Given the description of an element on the screen output the (x, y) to click on. 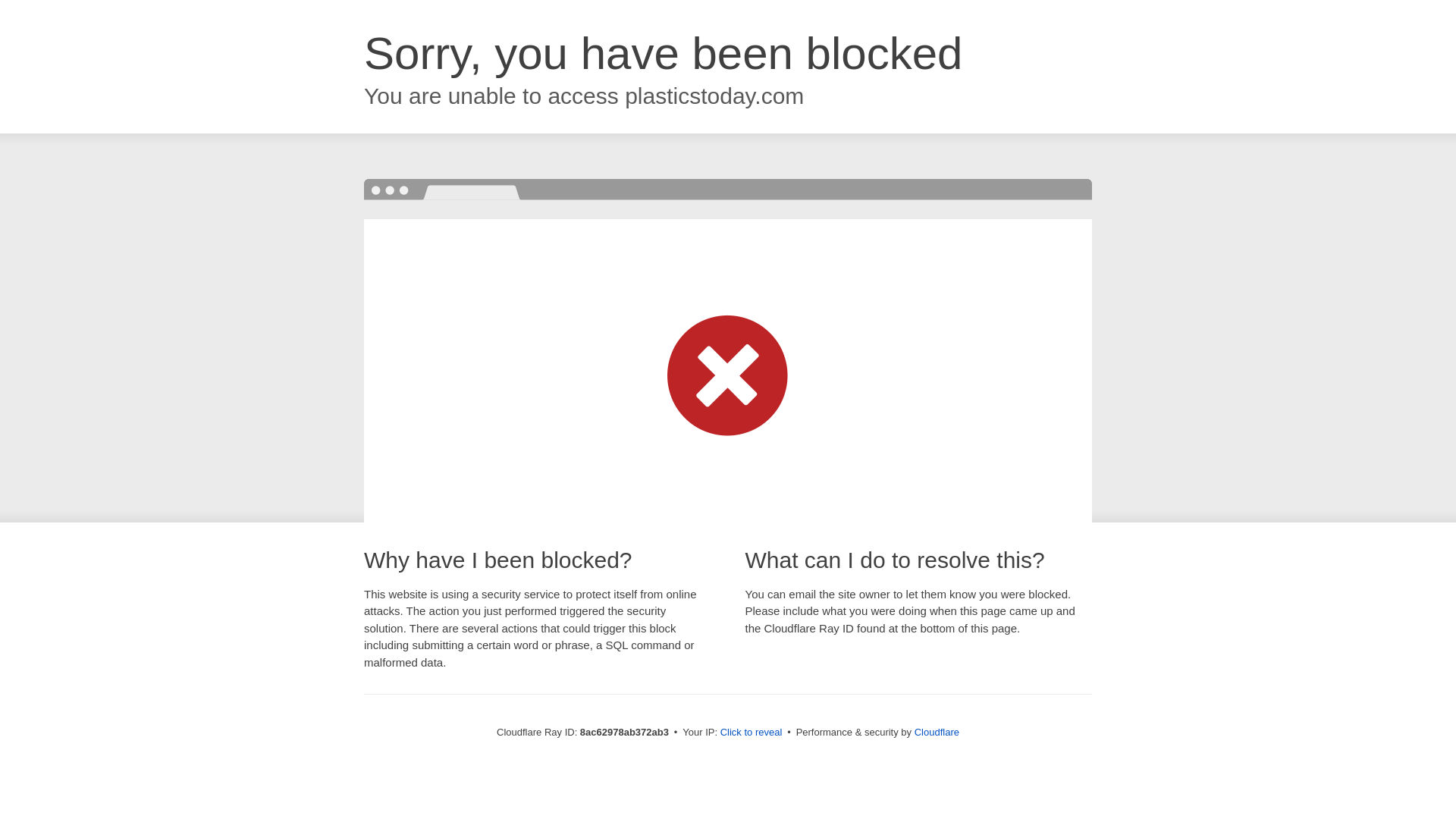
Click to reveal (751, 732)
Cloudflare (936, 731)
